Given the description of an element on the screen output the (x, y) to click on. 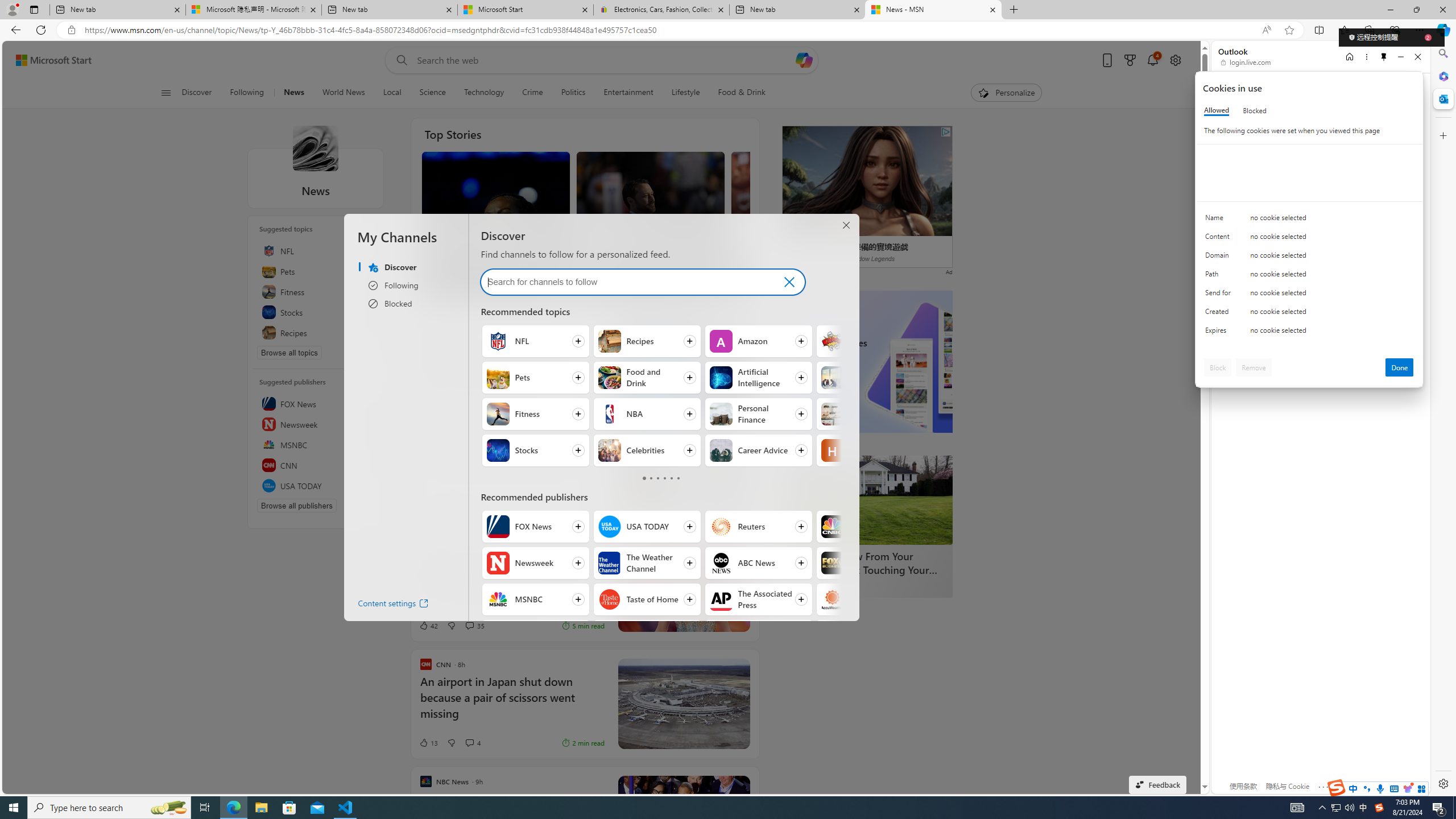
Electronics, Cars, Fashion, Collectibles & More | eBay (660, 9)
Follow Newsweek (535, 563)
